Given the description of an element on the screen output the (x, y) to click on. 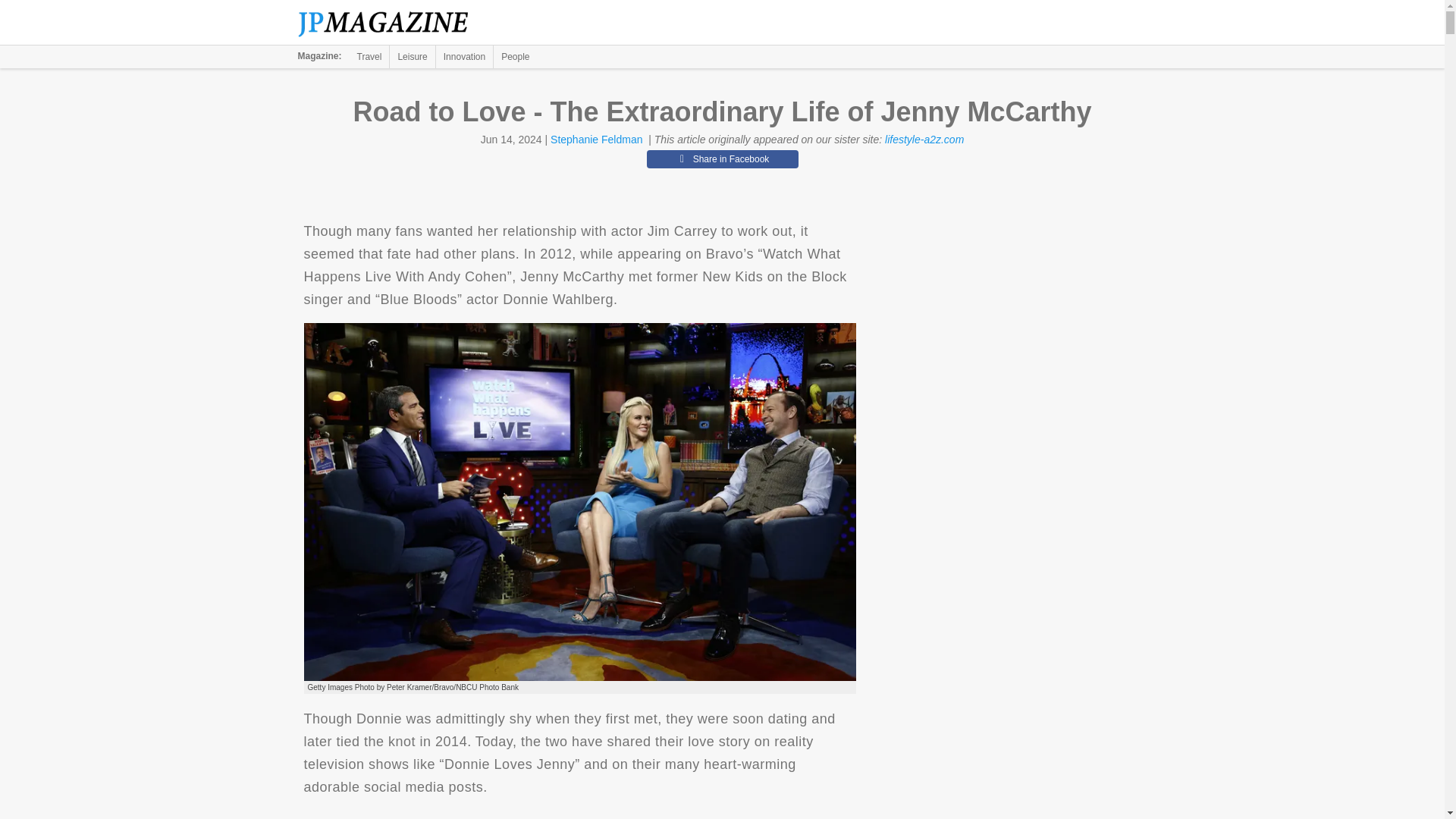
Stephanie Feldman (596, 139)
lifestyle-a2z.com (924, 139)
People (515, 56)
Leisure (411, 56)
Share in Facebook (721, 158)
The Jerusalem Post Magazine (391, 22)
Innovation (464, 56)
Travel (369, 56)
